Given the description of an element on the screen output the (x, y) to click on. 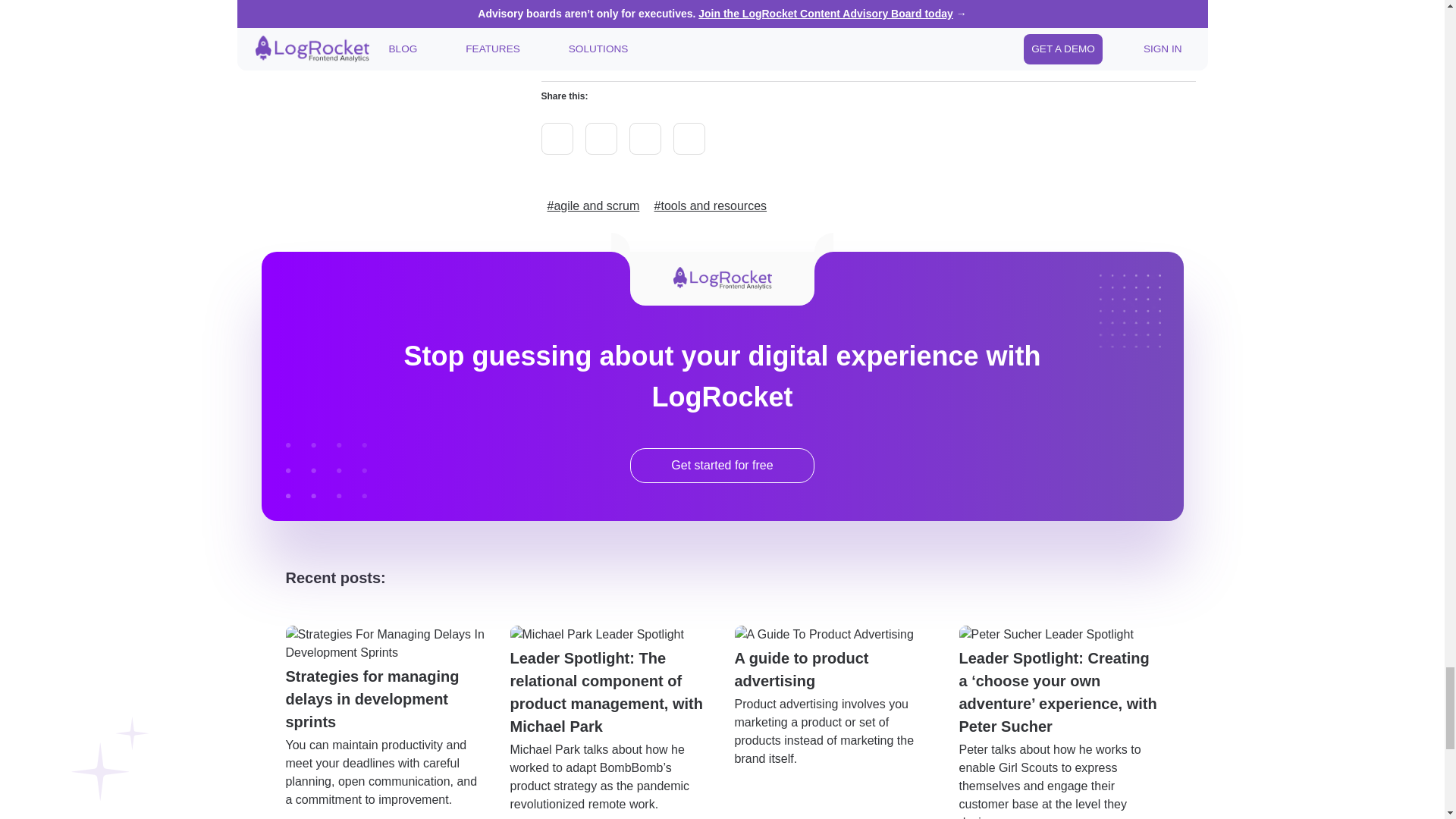
Click to share on LinkedIn (644, 138)
LogRocket (819, 12)
Click to share on Facebook (688, 138)
Click to share on Twitter (557, 138)
Click to share on Reddit (601, 138)
